Given the description of an element on the screen output the (x, y) to click on. 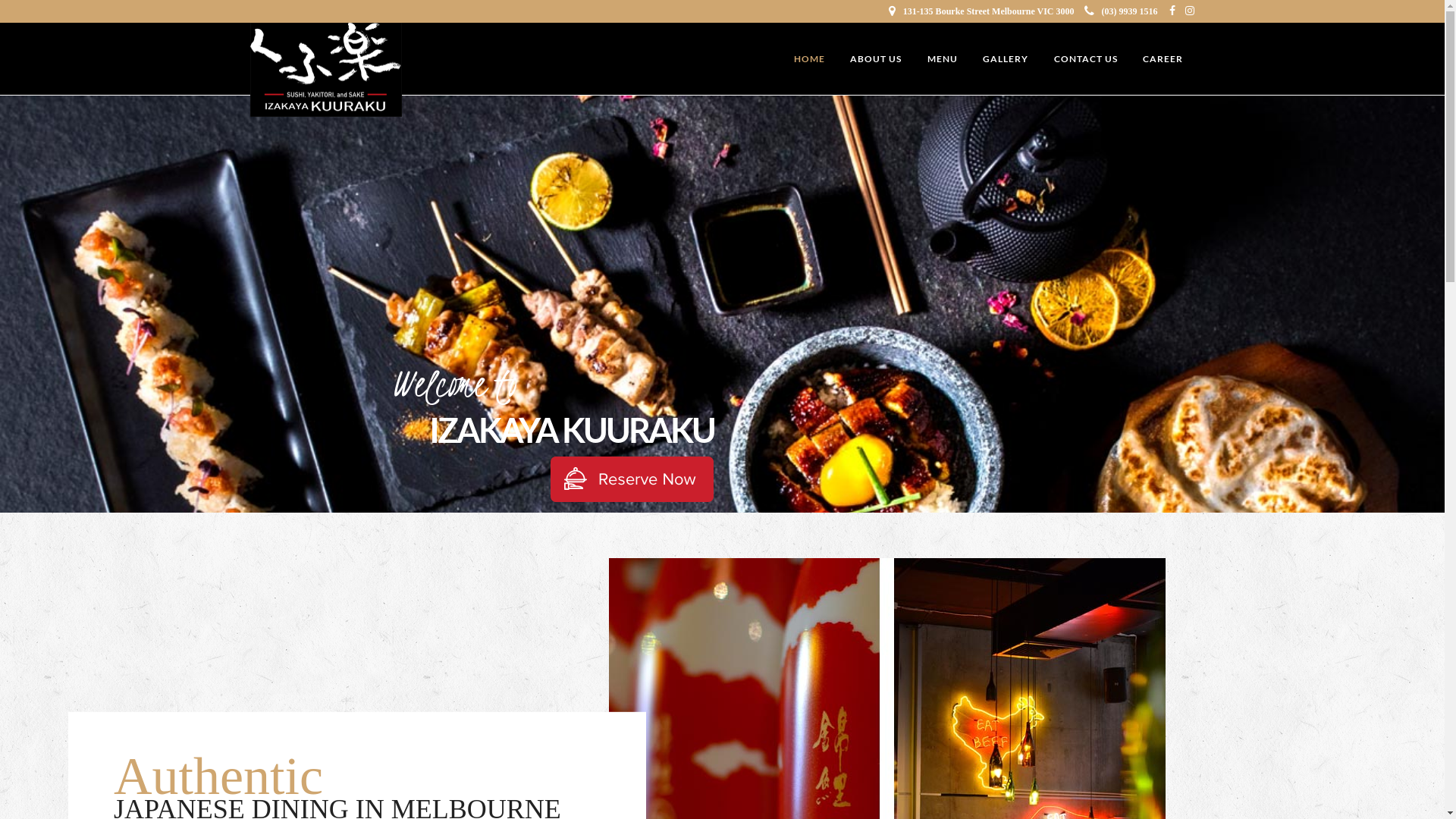
HOME Element type: text (809, 59)
GALLERY Element type: text (1005, 59)
Make Booking Element type: hover (631, 479)
(03) 9939 1516 Element type: text (1120, 11)
MENU Element type: text (942, 59)
CAREER Element type: text (1162, 59)
Instagram Element type: hover (1189, 11)
CONTACT US Element type: text (1084, 59)
ABOUT US Element type: text (875, 59)
